Given the description of an element on the screen output the (x, y) to click on. 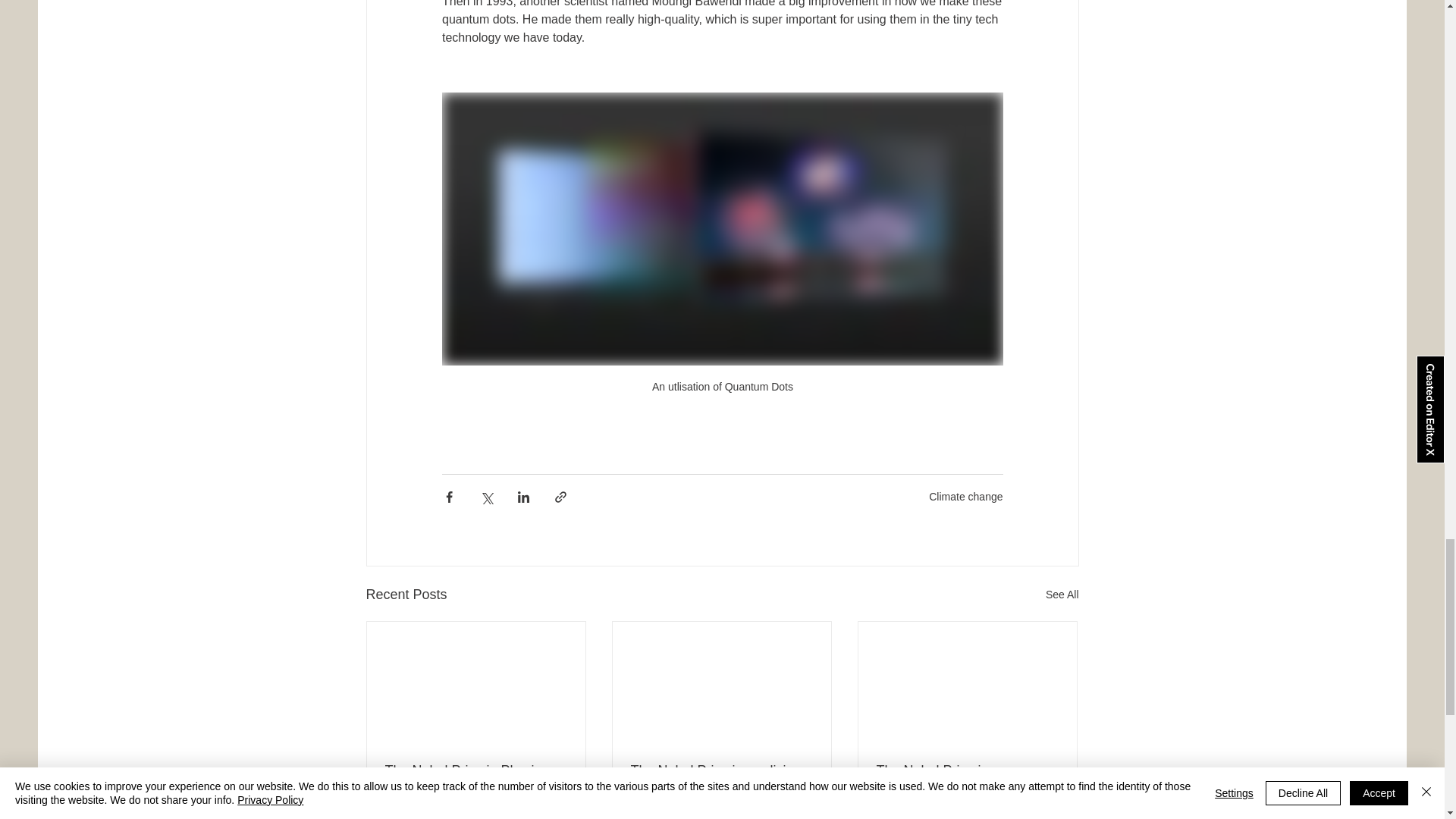
The Nobel Prize in Physics 2023 explained (476, 778)
The Nobel Prize in medicine 2023 explained (721, 778)
The Nobel Prize in Economics 2023 explained (967, 778)
See All (1061, 594)
Climate change (965, 496)
